Given the description of an element on the screen output the (x, y) to click on. 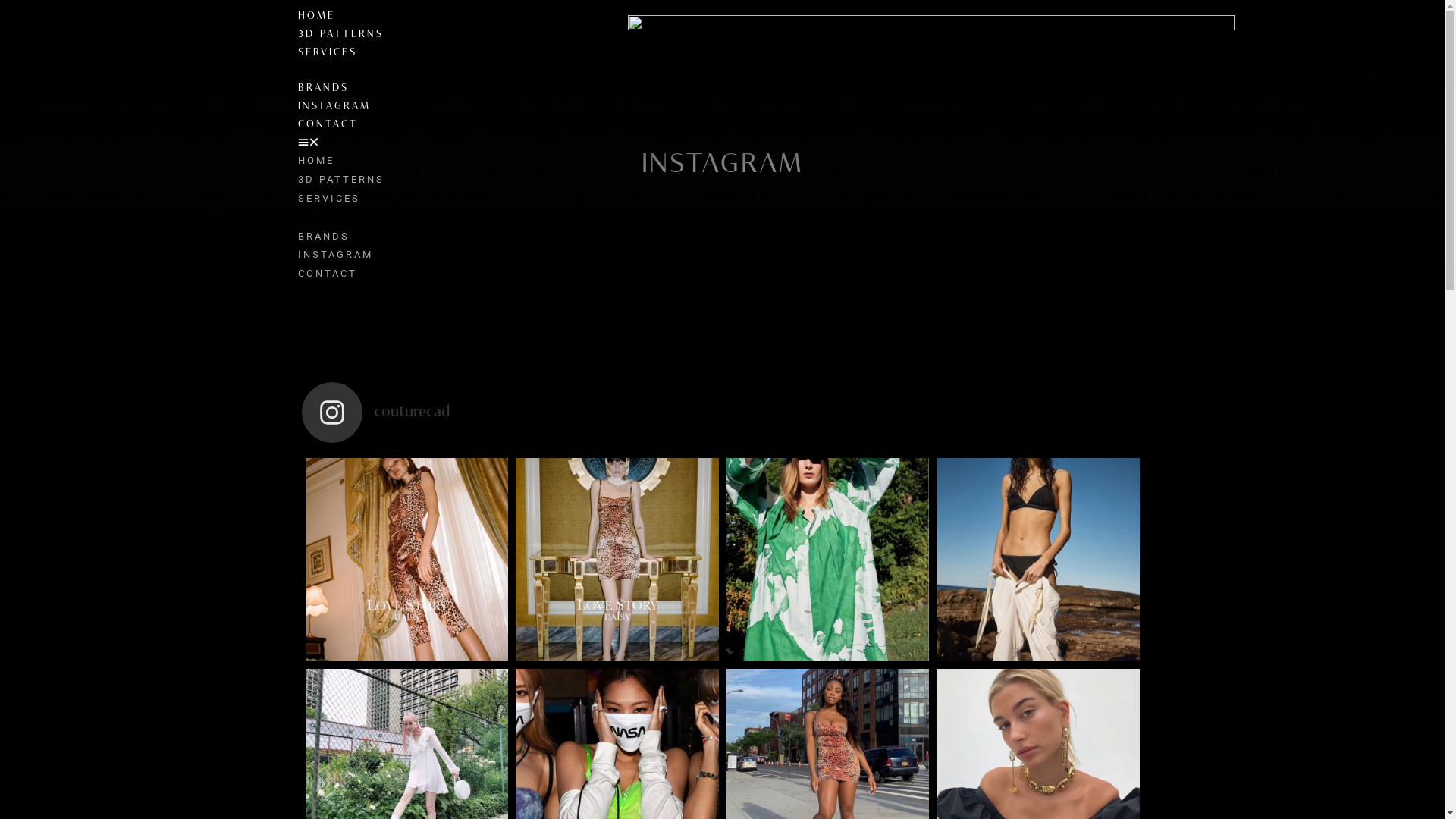
HOME Element type: text (315, 160)
CONTACT Element type: text (326, 273)
CONTACT Element type: text (327, 124)
BRANDS Element type: text (322, 235)
couturecad Element type: text (722, 412)
SERVICES Element type: text (328, 197)
BRANDS Element type: text (322, 88)
INSTAGRAM Element type: text (334, 254)
HOME Element type: text (315, 16)
SERVICES Element type: text (326, 52)
3D PATTERNS Element type: text (340, 179)
INSTAGRAM Element type: text (333, 106)
3D PATTERNS Element type: text (339, 34)
